Given the description of an element on the screen output the (x, y) to click on. 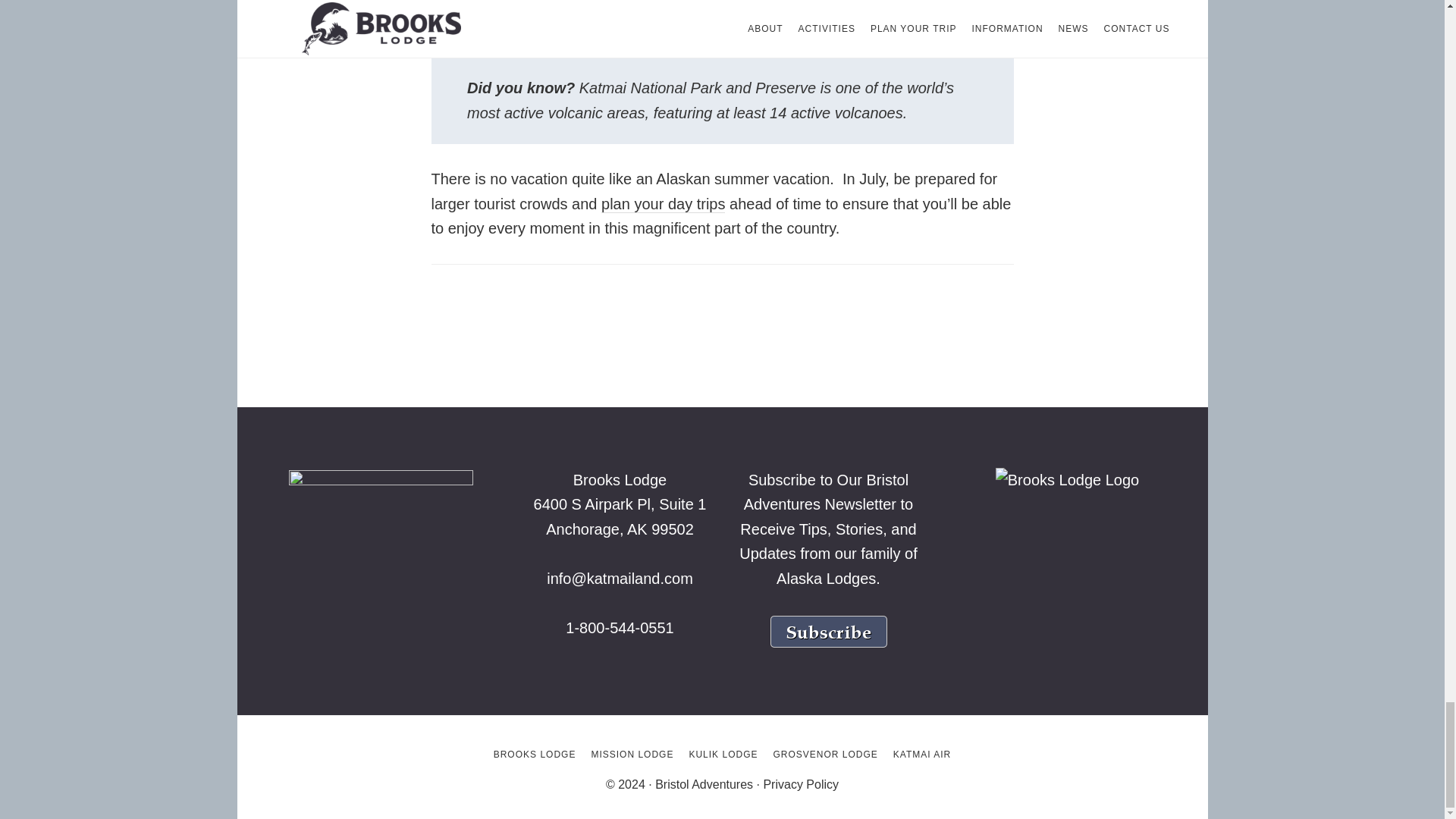
Plan Your Trip (663, 203)
